Given the description of an element on the screen output the (x, y) to click on. 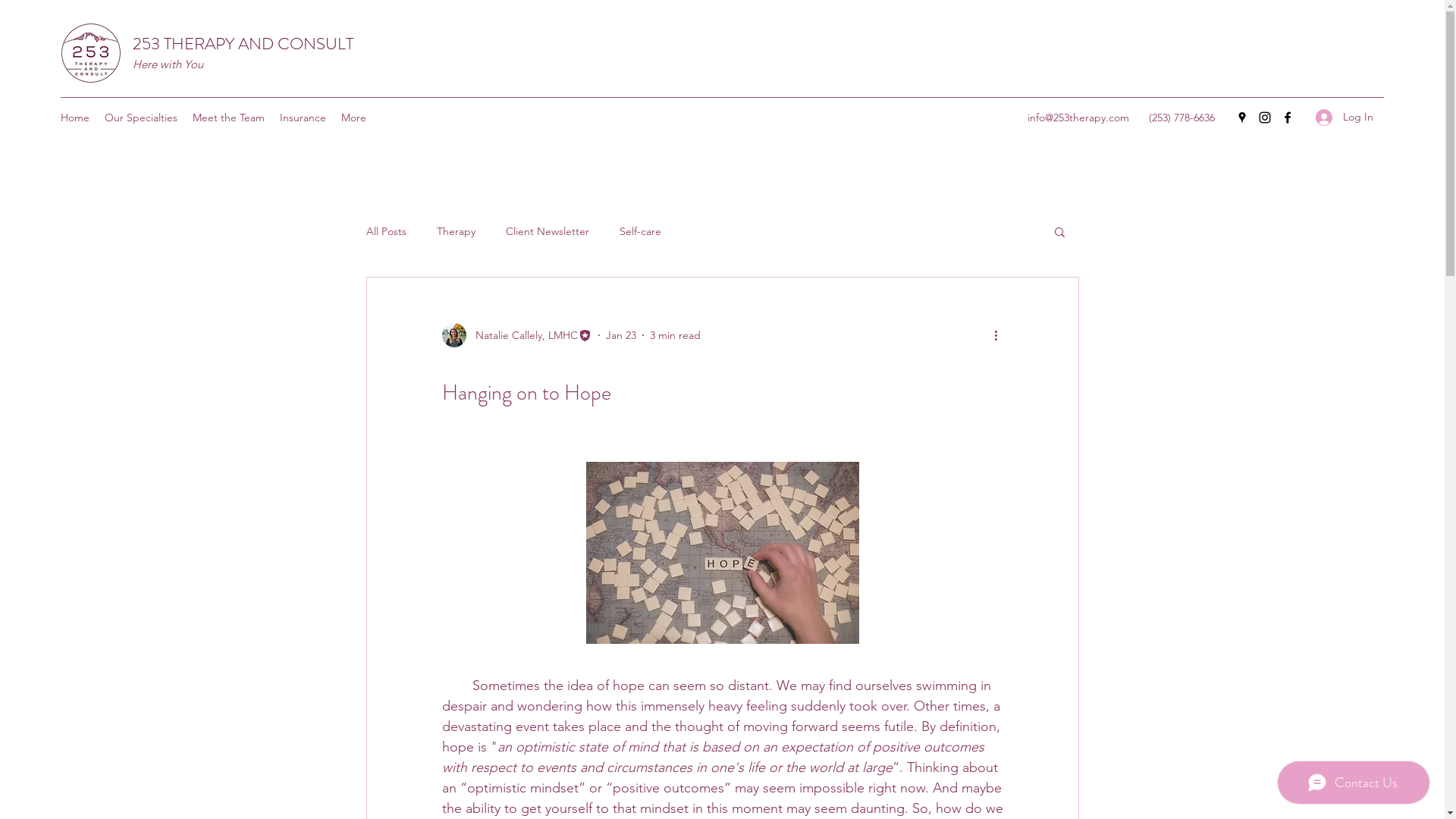
Insurance Element type: text (302, 117)
Self-care Element type: text (639, 231)
Our Specialties Element type: text (141, 117)
Natalie Callely, LMHC Element type: text (516, 335)
All Posts Element type: text (385, 231)
Log In Element type: text (1344, 117)
253 THERAPY AND CONSULT Element type: text (242, 43)
Meet the Team Element type: text (228, 117)
Therapy Element type: text (455, 231)
Client Newsletter Element type: text (546, 231)
info@253therapy.com Element type: text (1078, 117)
Home Element type: text (75, 117)
